Given the description of an element on the screen output the (x, y) to click on. 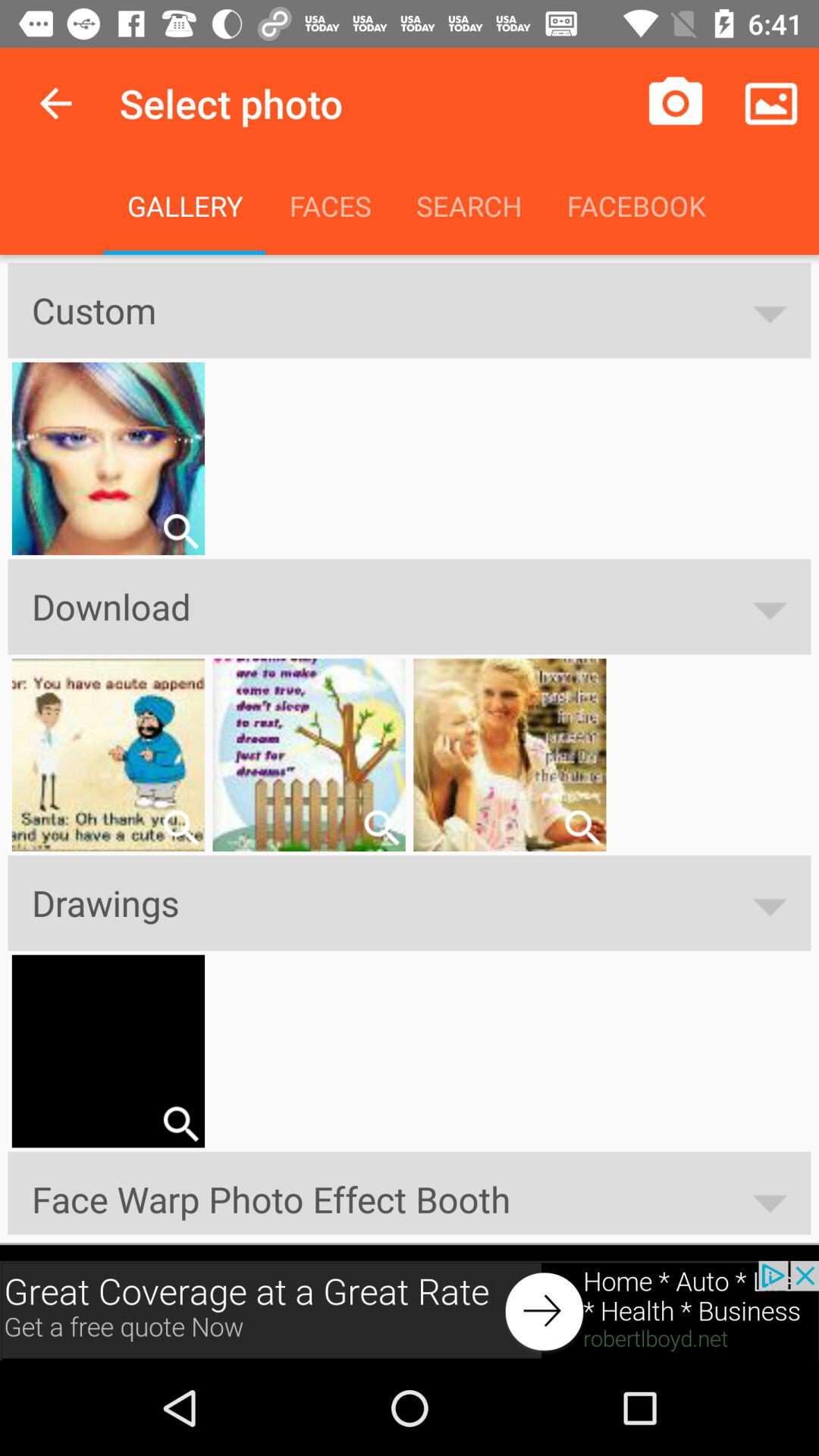
search the option (381, 827)
